Given the description of an element on the screen output the (x, y) to click on. 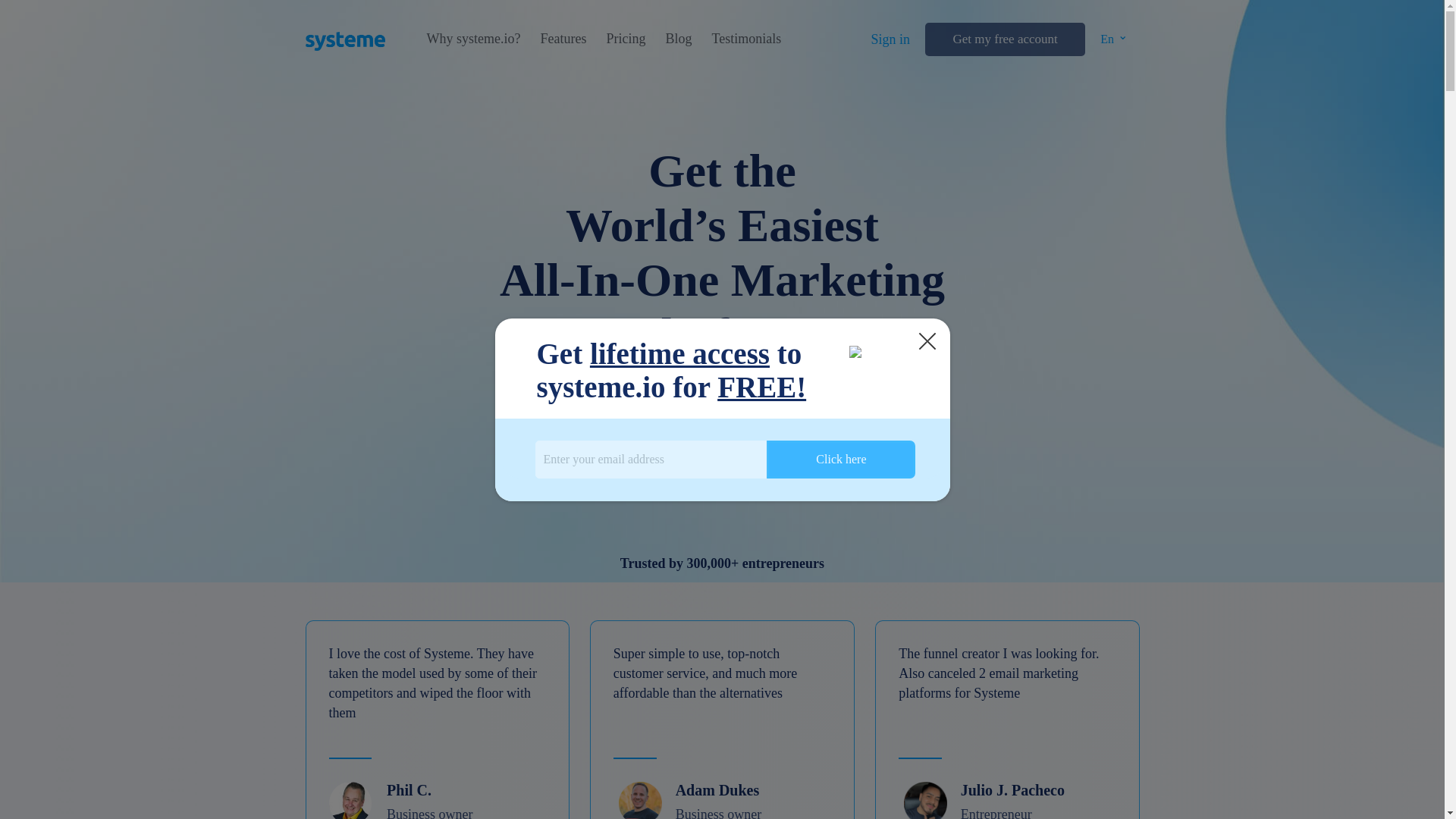
Why systeme.io? (472, 38)
Pricing (625, 38)
Sign in (890, 39)
Get my free account (1004, 39)
Blog (678, 38)
Testimonials (745, 38)
Features (563, 38)
